Given the description of an element on the screen output the (x, y) to click on. 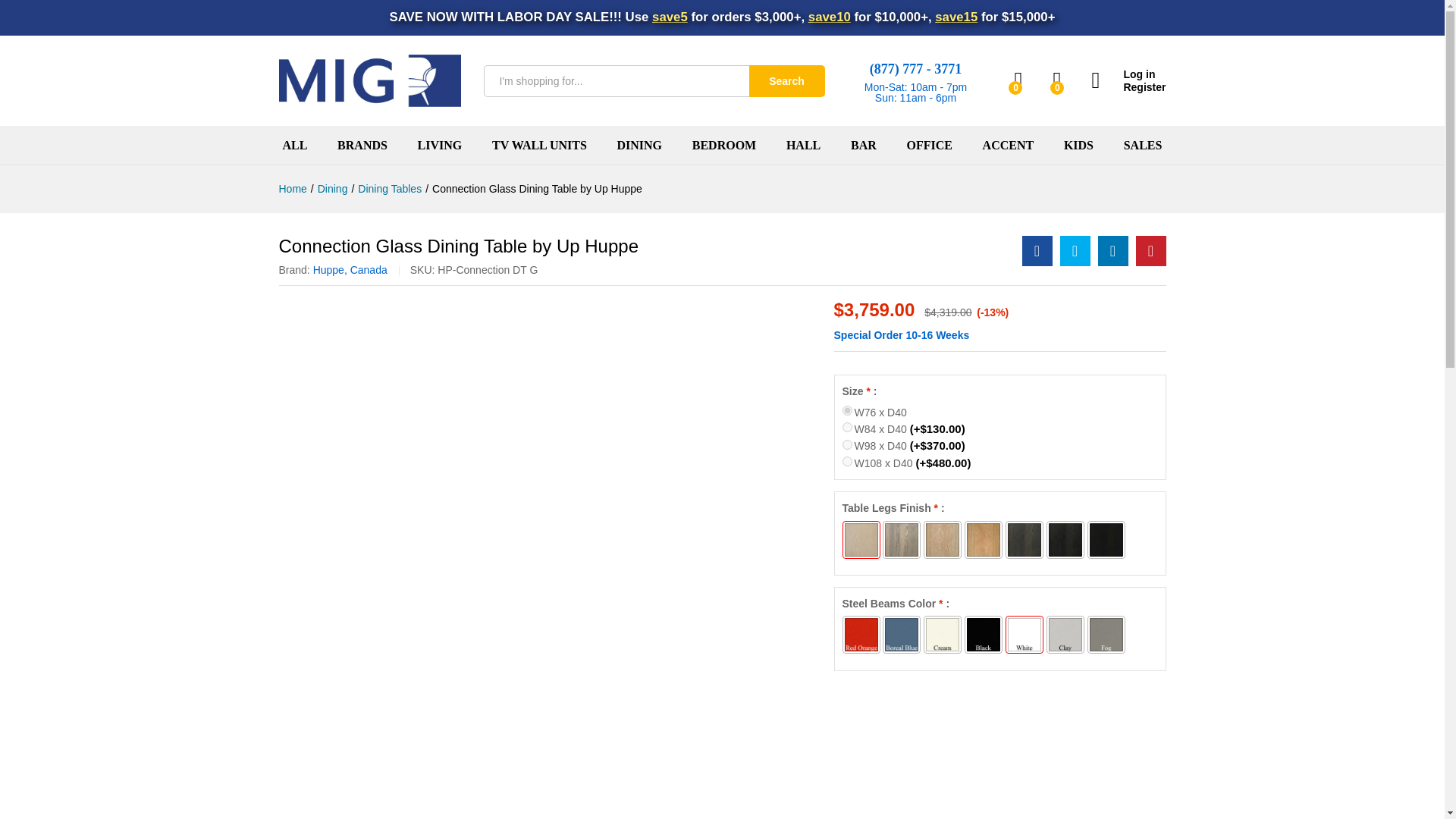
Accent Furniture (1007, 145)
BRANDS (362, 145)
Office Furniture (928, 145)
Kids Furniture (1078, 145)
ALL (294, 145)
Connection Glass Dining Table by Up Huppe (1037, 250)
Dining Room Furniture (639, 145)
W84 x D40 (846, 427)
Register (1128, 87)
Search (787, 81)
